Given the description of an element on the screen output the (x, y) to click on. 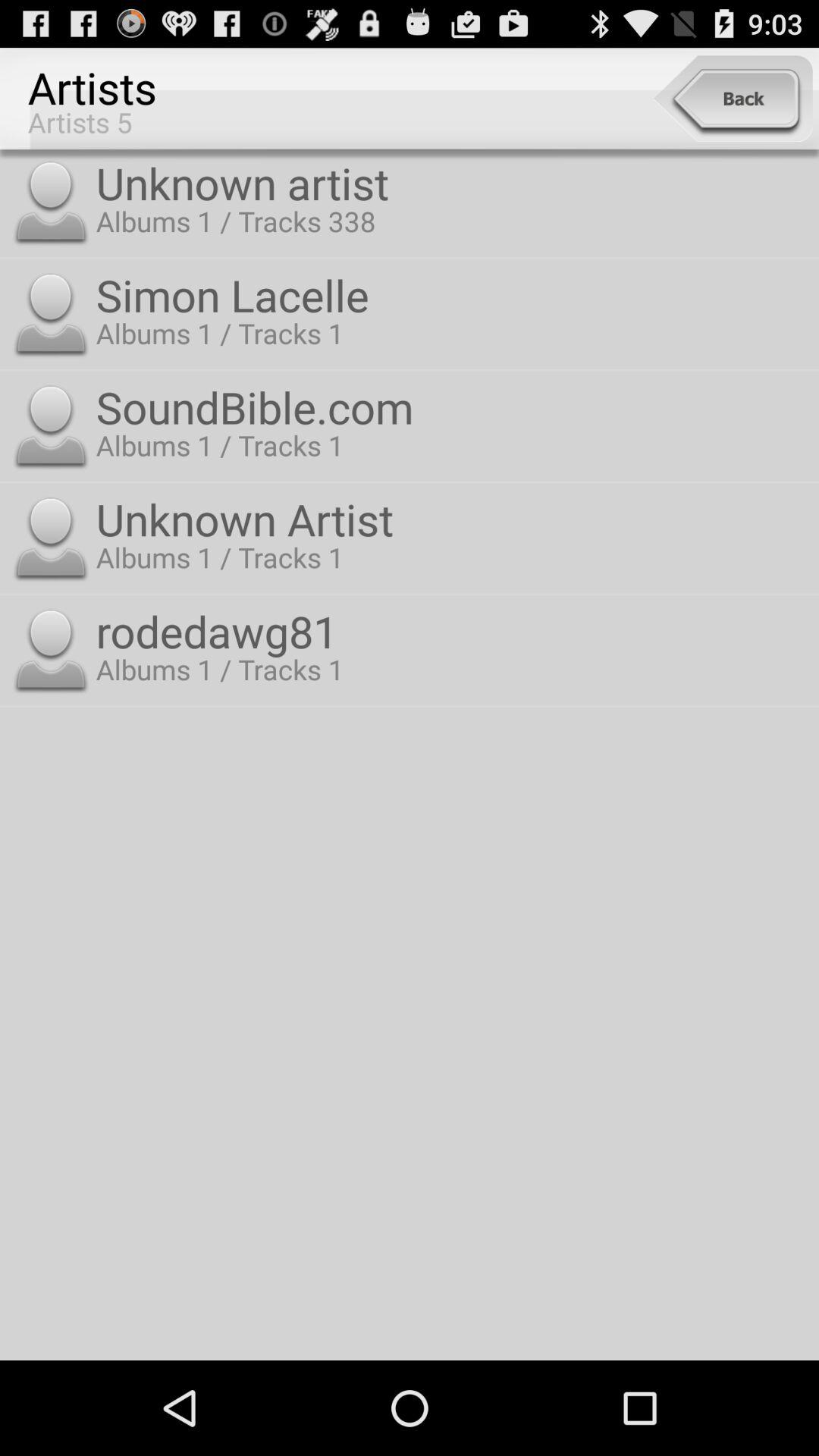
turn on app above the soundbible.com (454, 294)
